Given the description of an element on the screen output the (x, y) to click on. 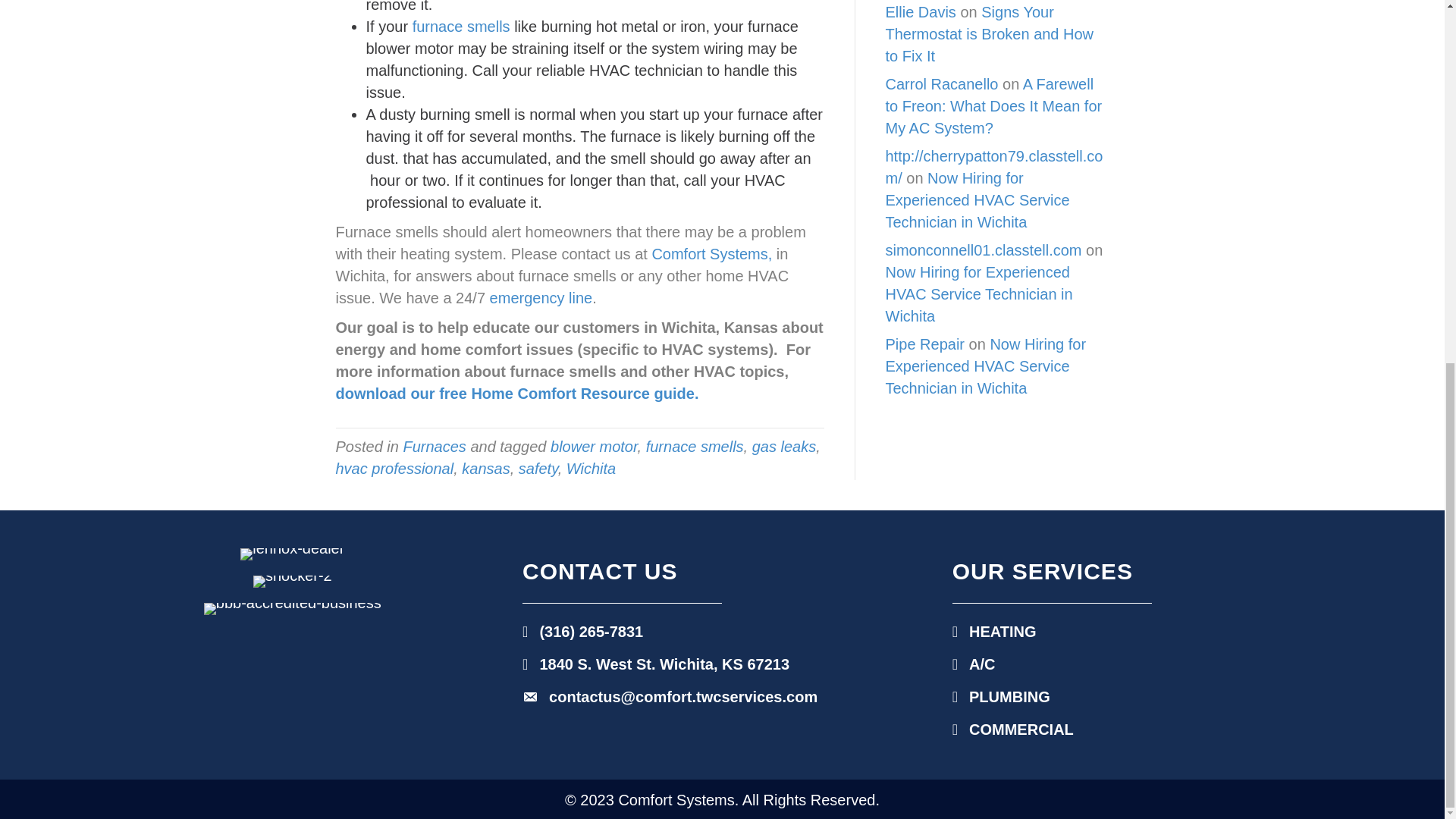
lennox-dealer (291, 553)
blower motor (593, 446)
emergency line (540, 297)
bbb-accredited-business (292, 608)
furnace smells (695, 446)
Wichita (590, 468)
Comfort Systems, (710, 253)
hvac professional (393, 468)
furnace smells (461, 26)
Furnaces (434, 446)
